Given the description of an element on the screen output the (x, y) to click on. 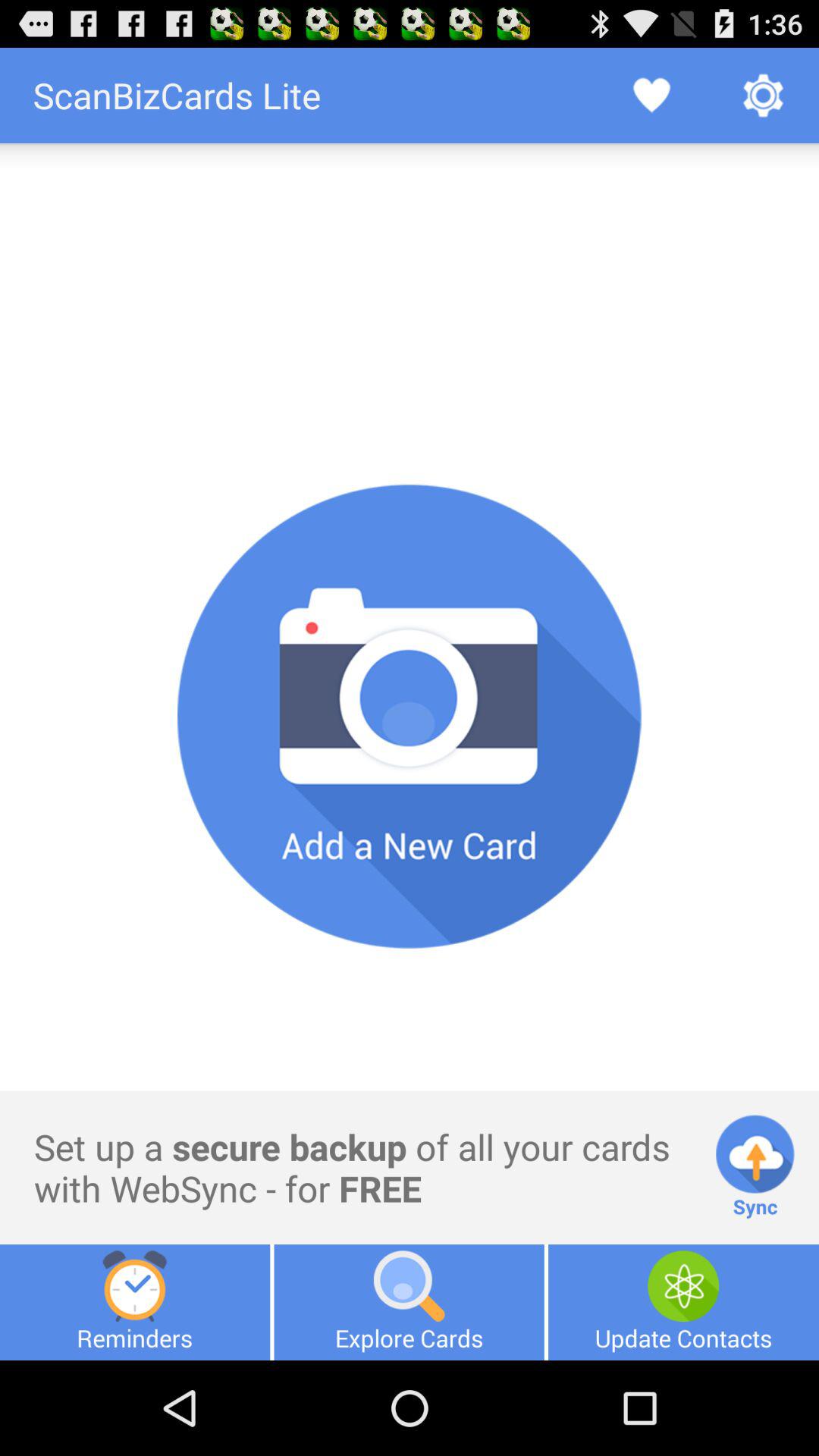
tap item to the right of the explore cards icon (683, 1302)
